Given the description of an element on the screen output the (x, y) to click on. 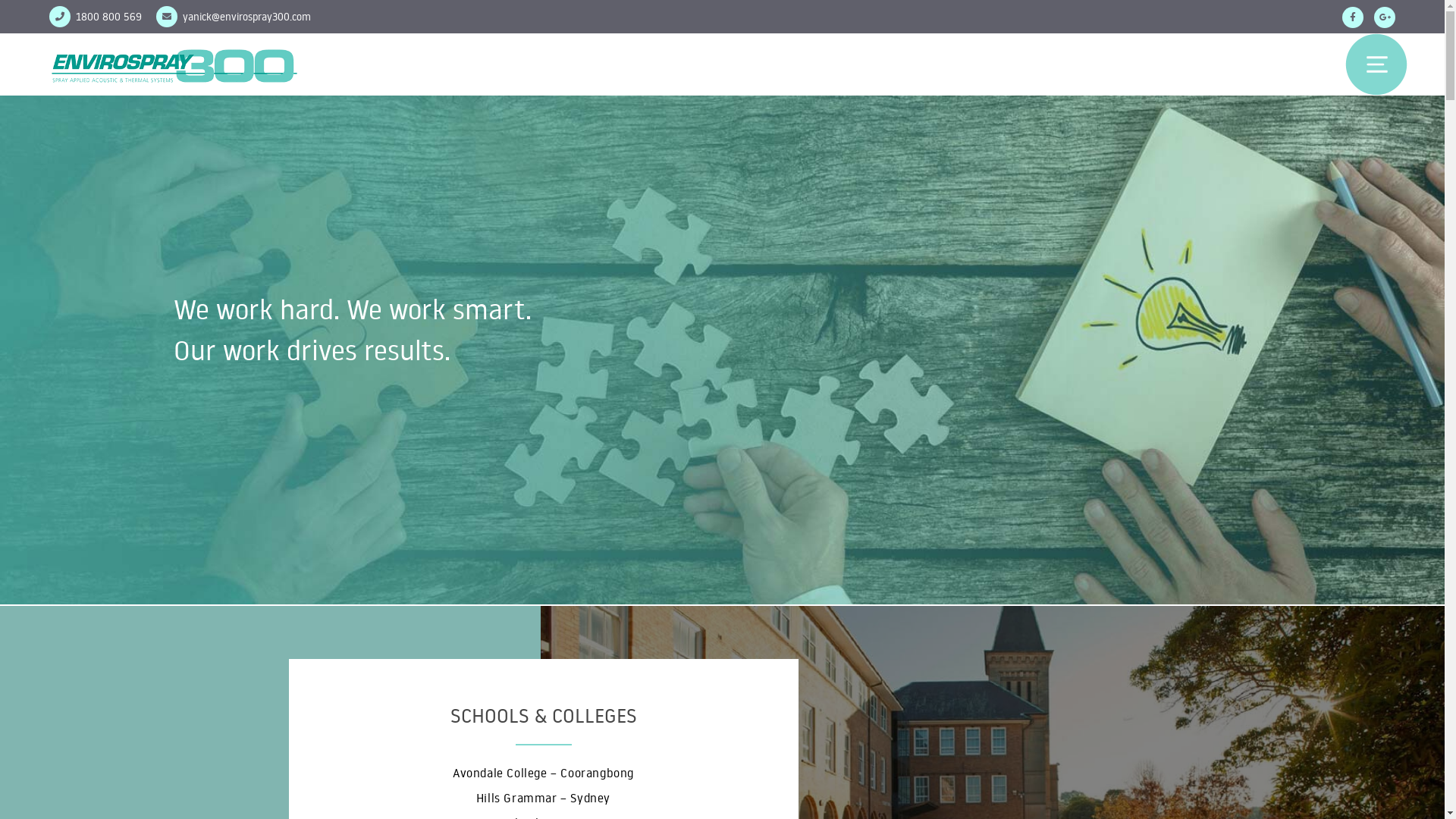
yanick@envirospray300.com Element type: text (246, 16)
Menu Element type: text (1376, 64)
